Given the description of an element on the screen output the (x, y) to click on. 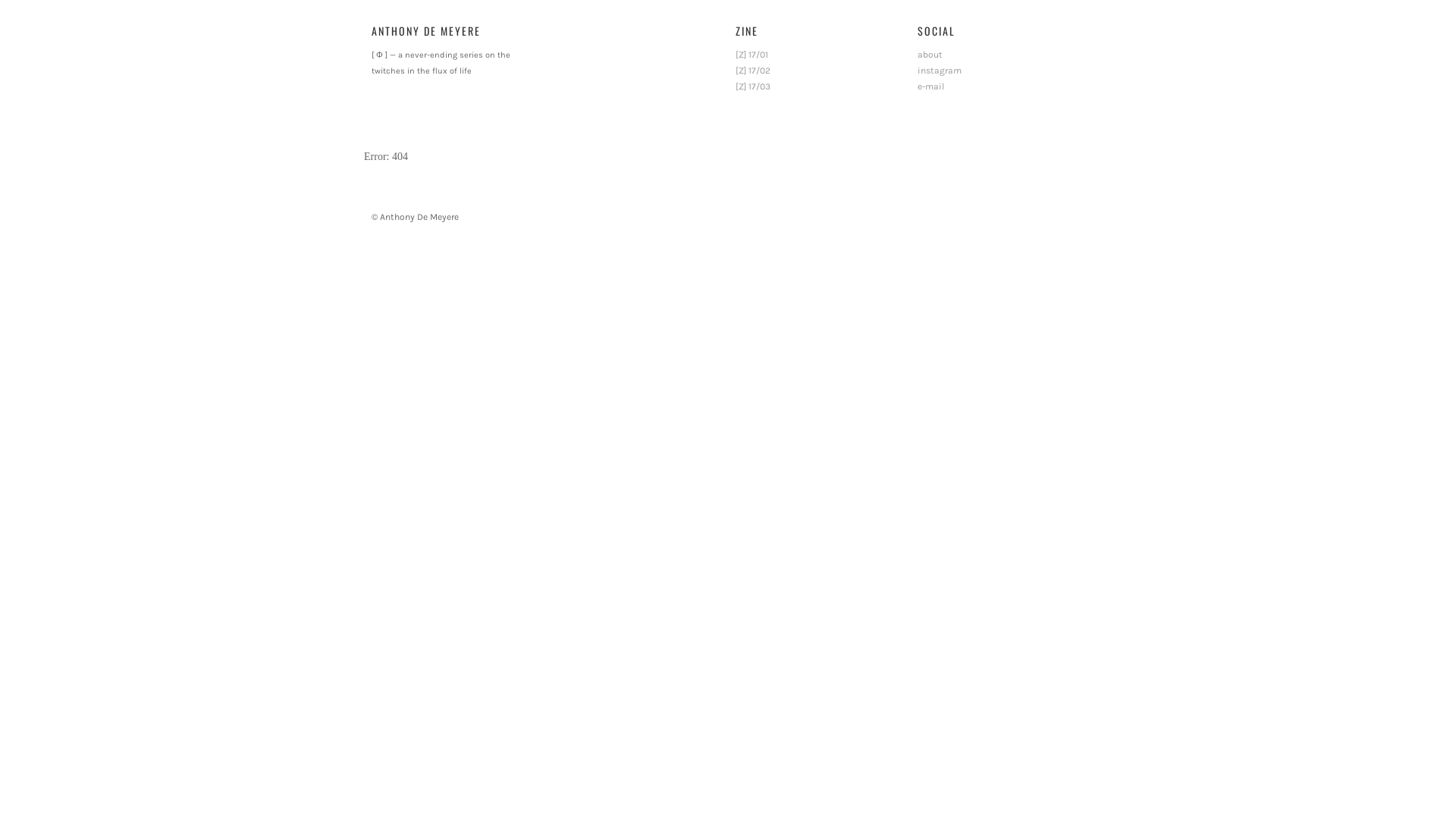
[Z] 17/03 Element type: text (752, 86)
[Z] 17/01 Element type: text (751, 54)
ANTHONY DE MEYERE Element type: text (425, 30)
e-mail Element type: text (930, 86)
[Z] 17/02 Element type: text (752, 70)
about Element type: text (929, 54)
instagram Element type: text (939, 70)
